Given the description of an element on the screen output the (x, y) to click on. 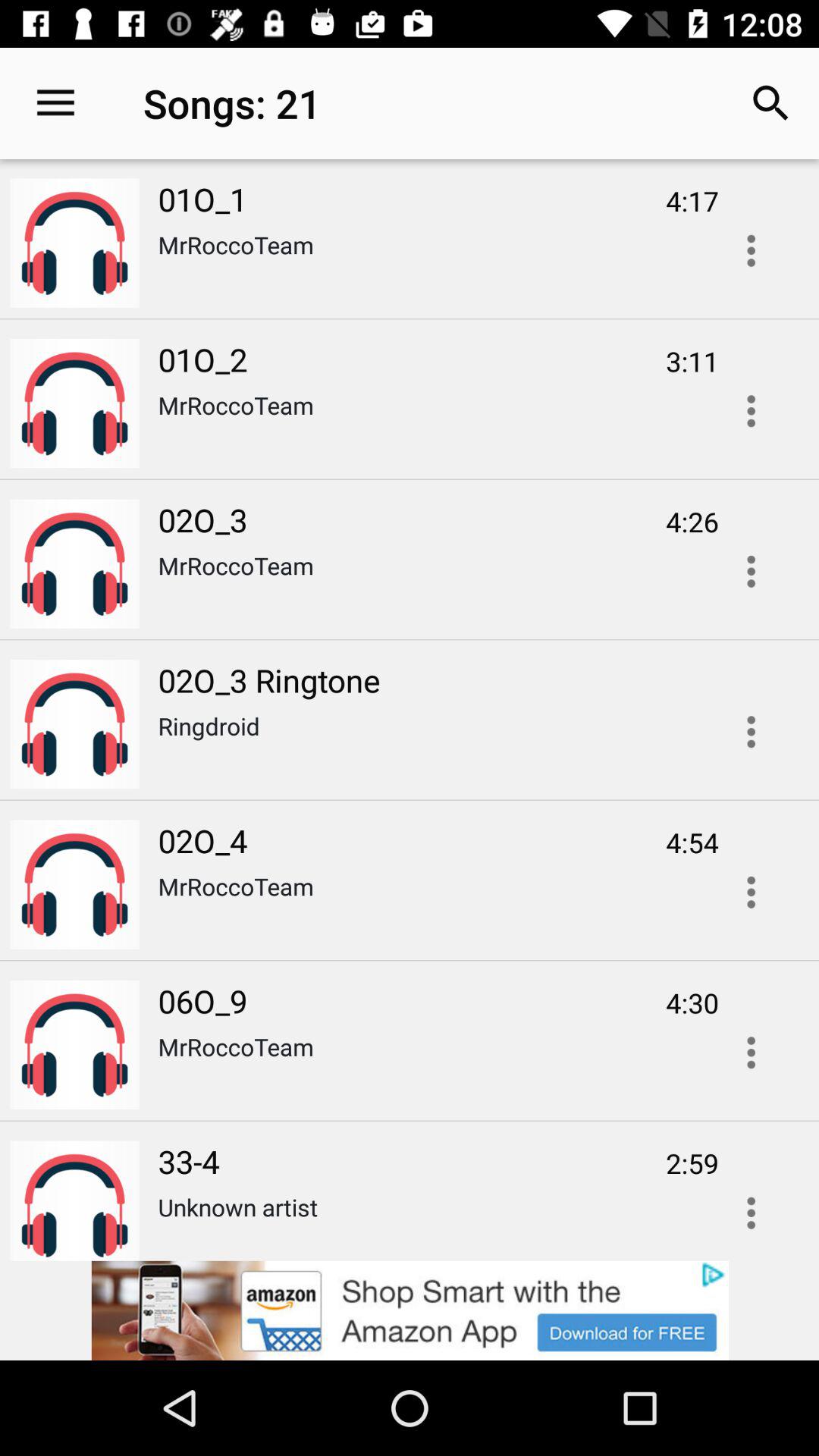
menu button (750, 731)
